Given the description of an element on the screen output the (x, y) to click on. 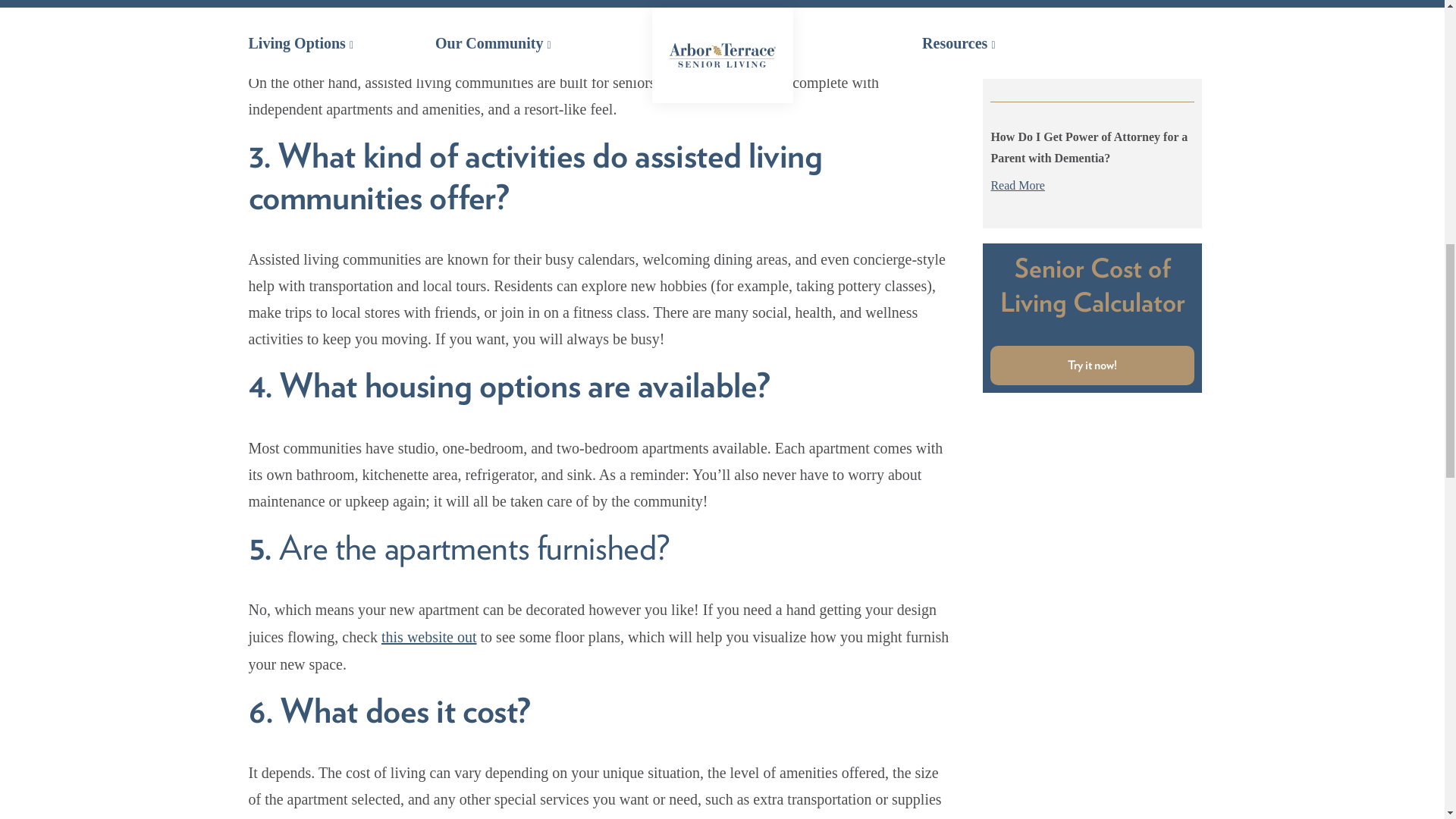
Try it now! (1091, 364)
How Do I Get Power of Attorney for a Parent with Dementia? (1089, 147)
Read More (1091, 66)
this website out (429, 636)
Read More (1091, 185)
